Given the description of an element on the screen output the (x, y) to click on. 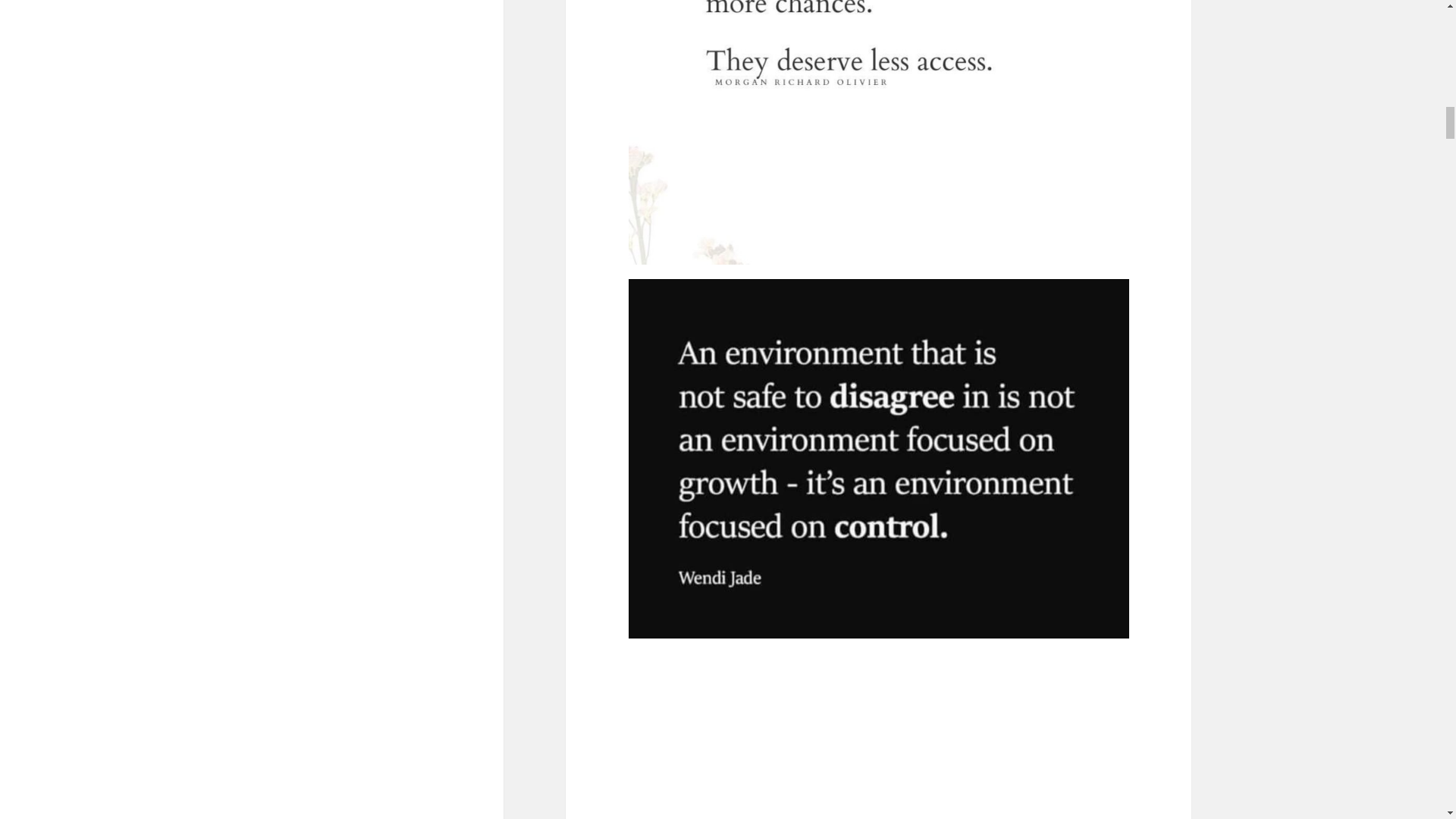
Ciara - "I Love Myself" ft Macklemore (878, 735)
